Given the description of an element on the screen output the (x, y) to click on. 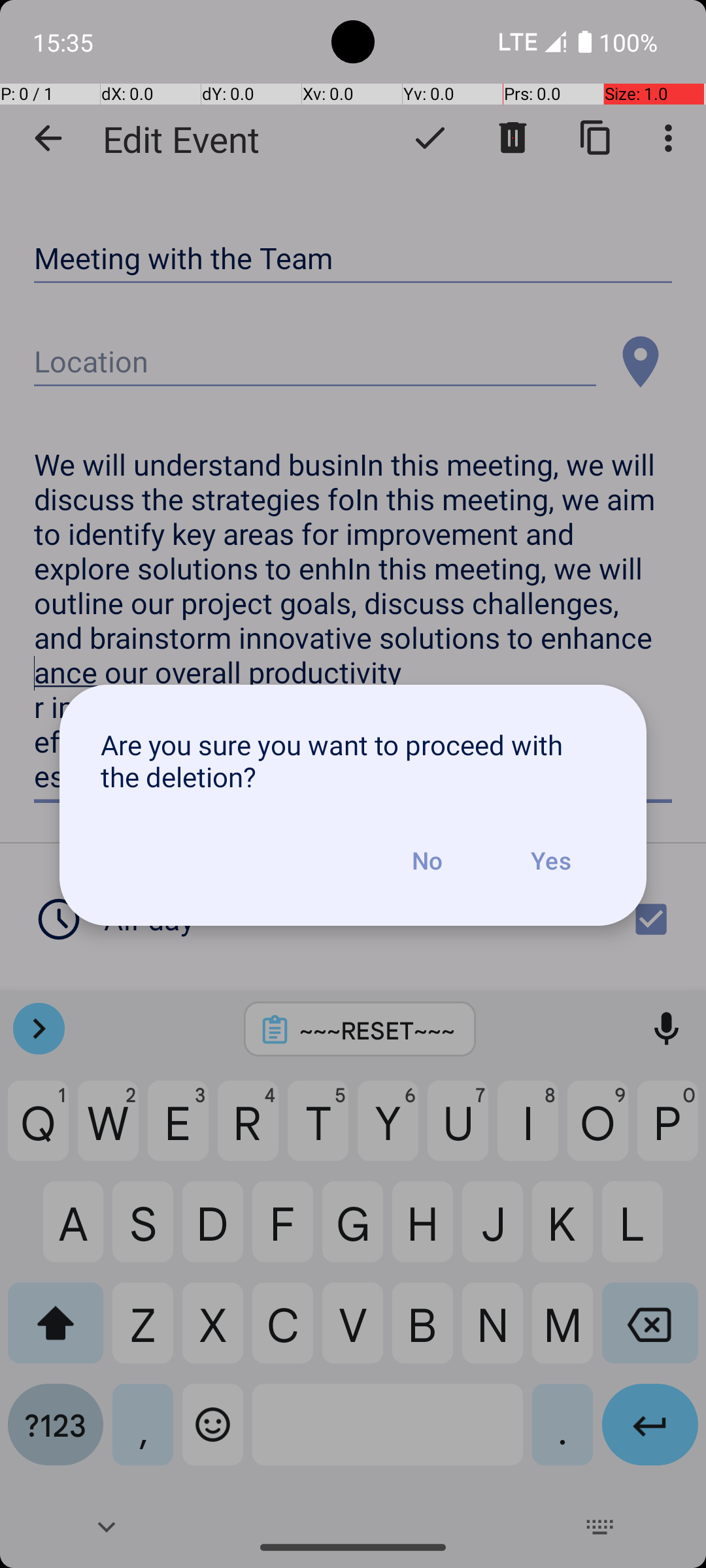
Are you sure you want to proceed with the deletion? Element type: android.widget.TextView (352, 760)
No Element type: android.widget.Button (426, 860)
Yes Element type: android.widget.Button (550, 860)
